Given the description of an element on the screen output the (x, y) to click on. 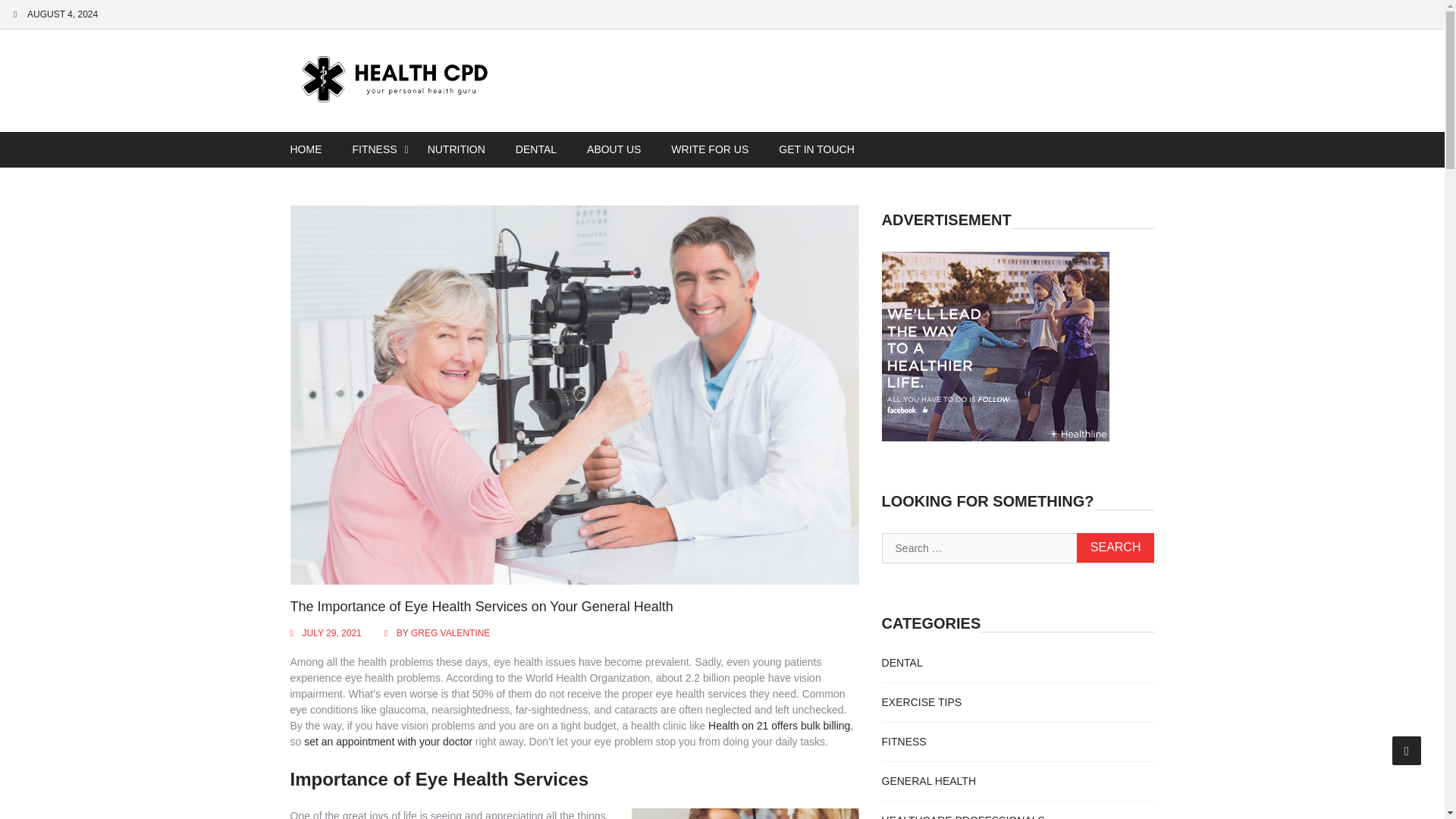
DENTAL (536, 149)
Exercise Tips blogs. (922, 702)
set an appointment with your doctor (387, 741)
Search (1115, 547)
GREG VALENTINE (449, 633)
FITNESS (374, 149)
Blogs about fitness (904, 741)
Dental health blogs. (902, 662)
Search (1115, 547)
Go to Top (1406, 750)
JULY 29, 2021 (331, 633)
ABOUT US (614, 149)
NUTRITION (456, 149)
Health on 21 offers bulk billing (778, 725)
HOME (305, 149)
